Given the description of an element on the screen output the (x, y) to click on. 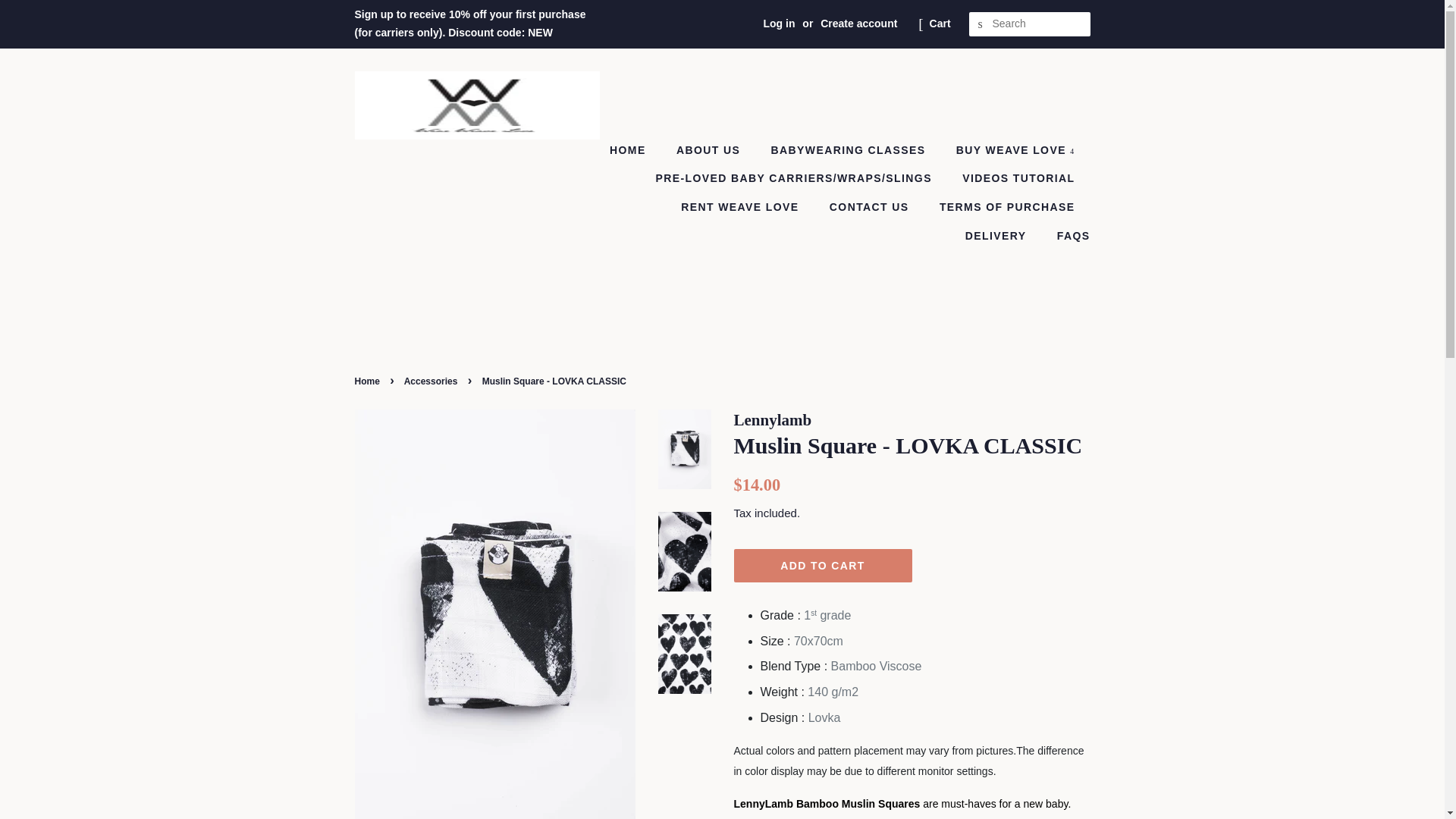
Cart (940, 24)
Create account (858, 23)
ABOUT US (710, 150)
HOME (635, 150)
Back to the frontpage (369, 380)
Log in (778, 23)
SEARCH (980, 24)
